Given the description of an element on the screen output the (x, y) to click on. 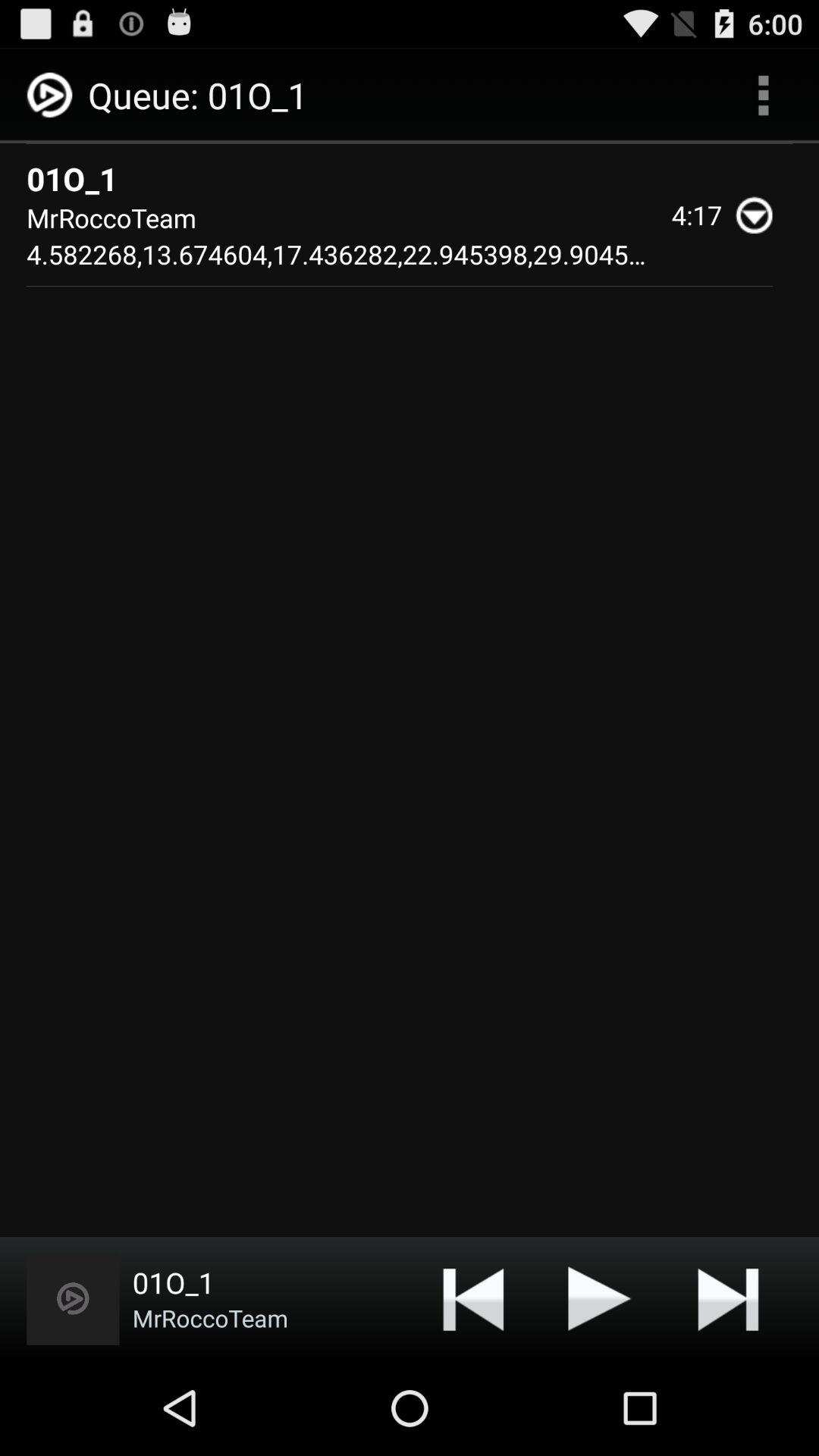
open item next to the 4:17 item (760, 214)
